Given the description of an element on the screen output the (x, y) to click on. 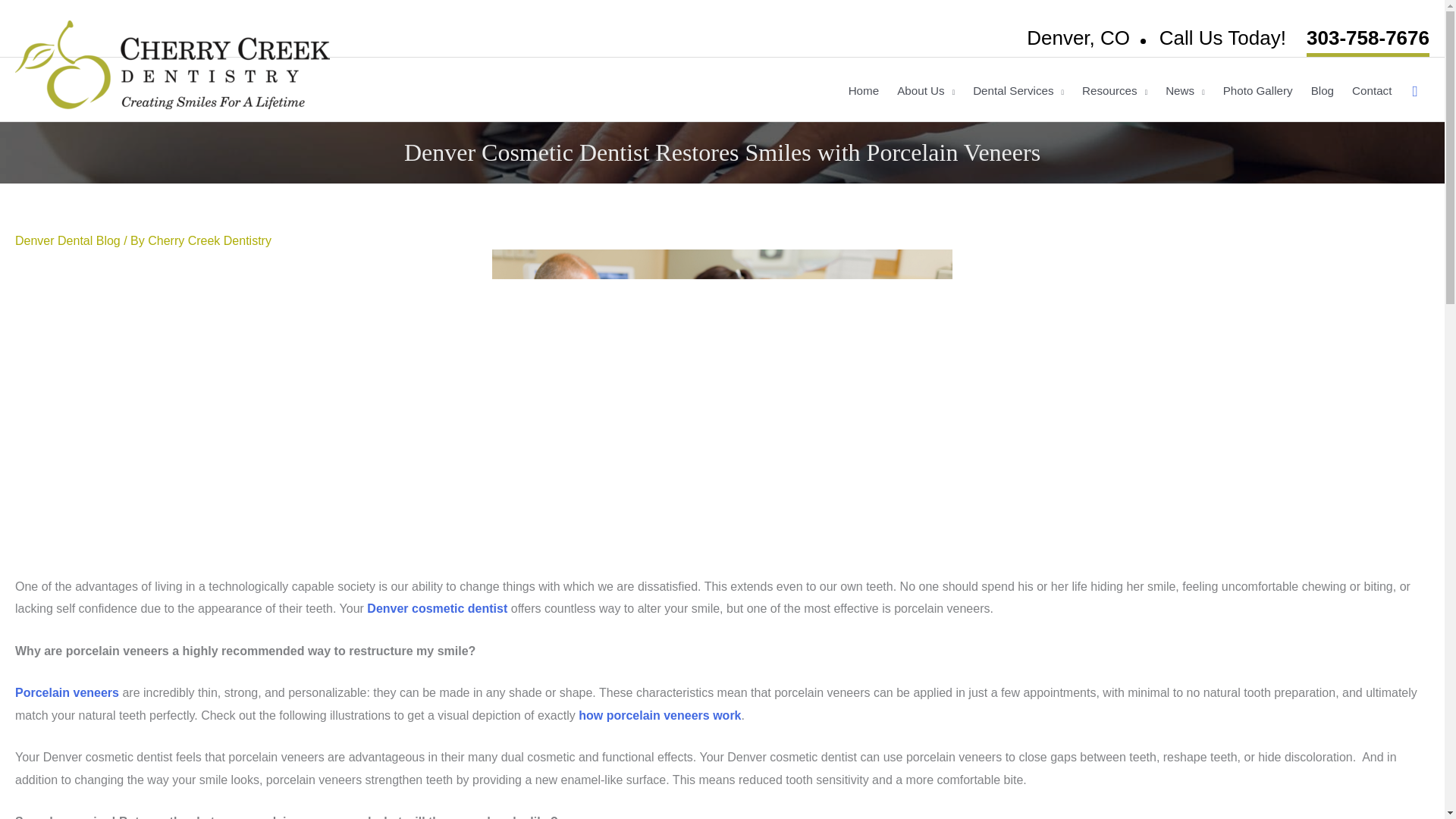
Contact (1371, 91)
View all posts by Cherry Creek Dentistry (209, 240)
About Us (925, 91)
News (1185, 91)
Blog (1321, 91)
Photo Gallery (1257, 91)
Denver, CO (1077, 37)
Home (864, 91)
Resources (1114, 91)
Dental Services (1018, 91)
303-758-7676 (1367, 39)
Search (1415, 91)
